Given the description of an element on the screen output the (x, y) to click on. 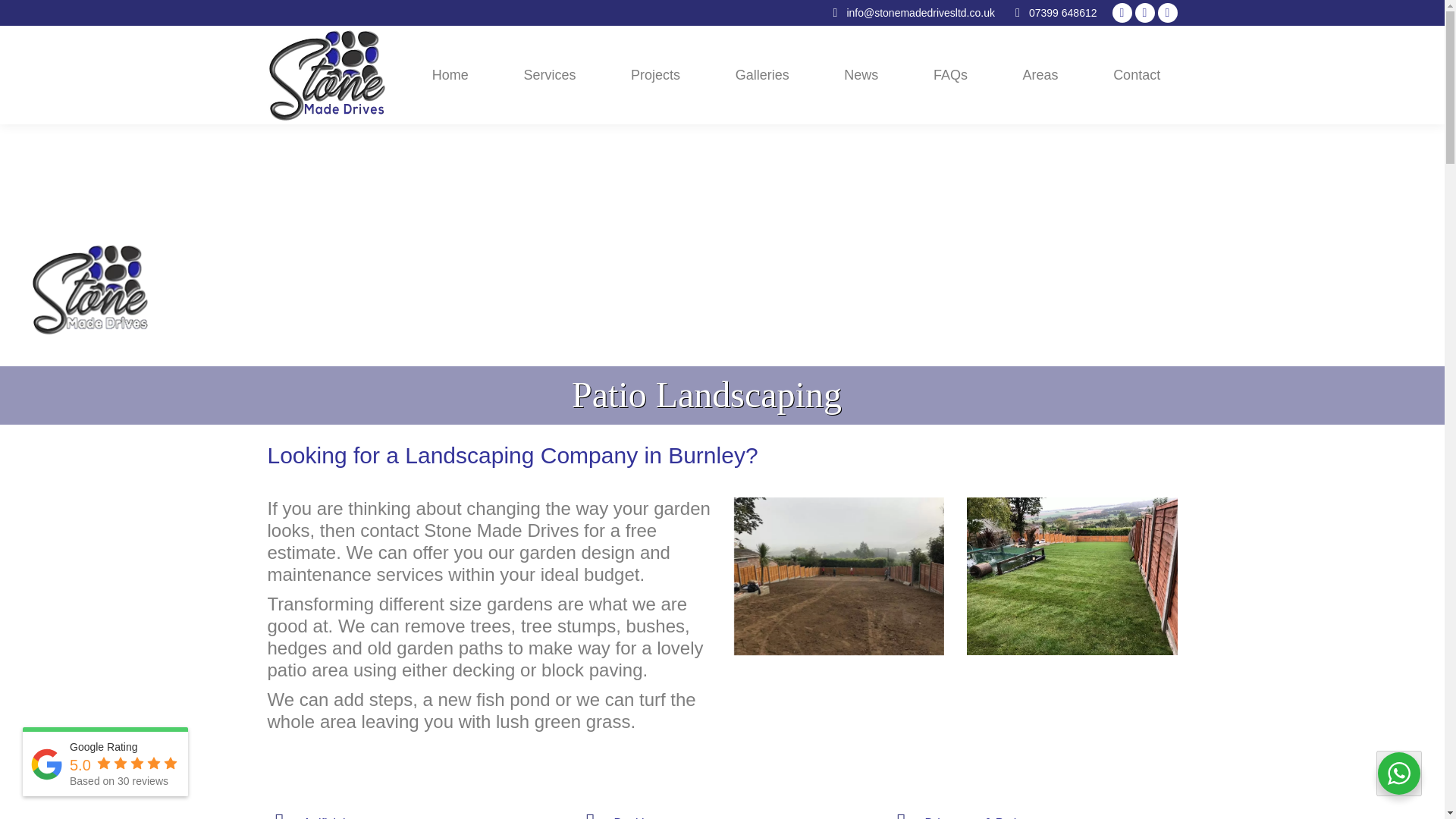
07399 648612 (1063, 12)
lancashire landscaping 08 (838, 576)
Facebook page opens in new window (1121, 12)
X page opens in new window (1144, 12)
Services (549, 74)
Instagram page opens in new window (1166, 12)
Instagram page opens in new window (1166, 12)
Facebook page opens in new window (1121, 12)
lancashire landscaping 10 (1071, 576)
Home (450, 74)
X page opens in new window (1144, 12)
